Given the description of an element on the screen output the (x, y) to click on. 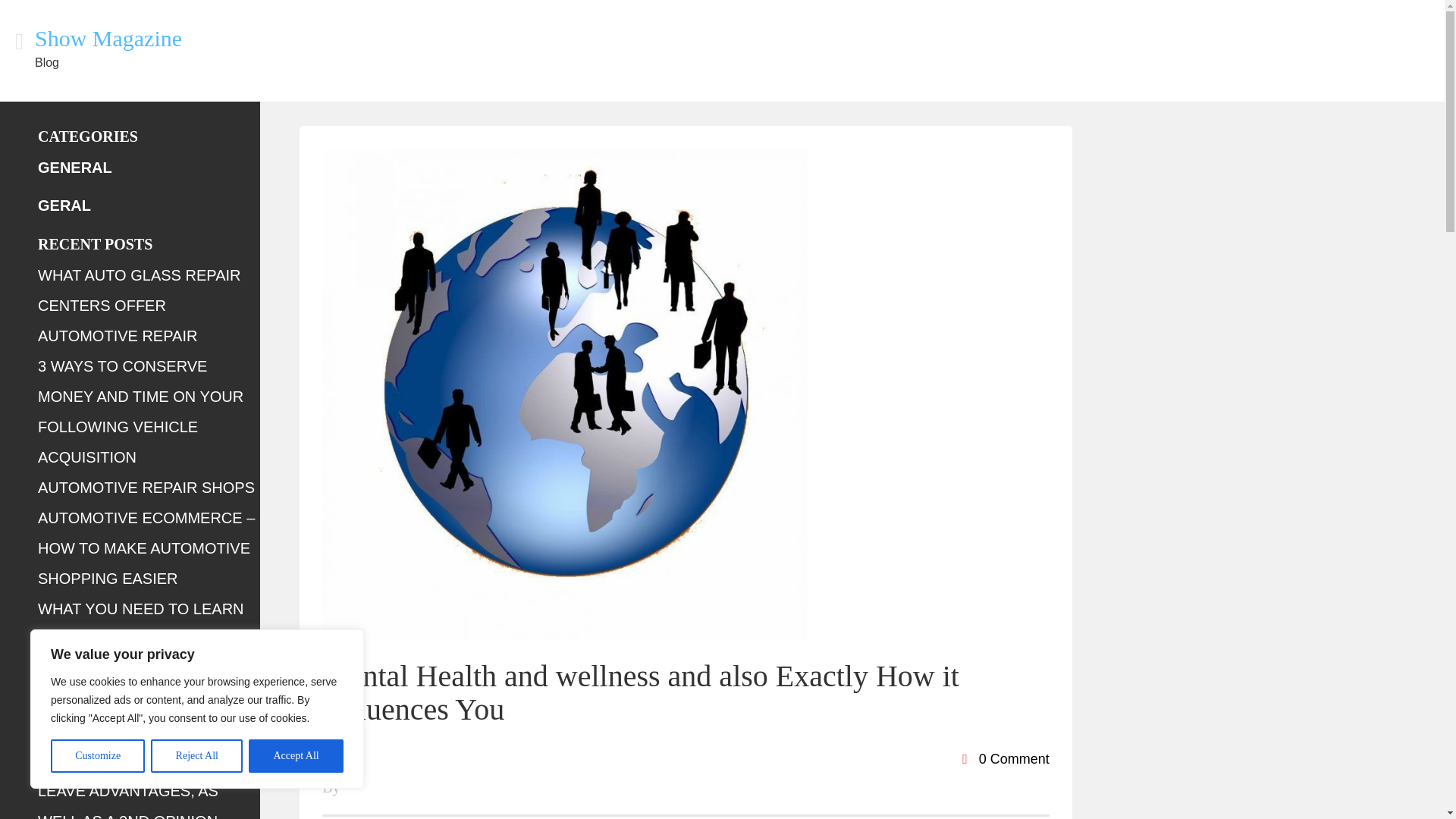
GERAL (63, 205)
WHAT AUTO GLASS REPAIR CENTERS OFFER AUTOMOTIVE REPAIR (138, 304)
GENERAL (74, 167)
Accept All (295, 756)
Customize (97, 756)
Show Magazine (108, 37)
0 Comment (1005, 758)
Reject All (197, 756)
